Given the description of an element on the screen output the (x, y) to click on. 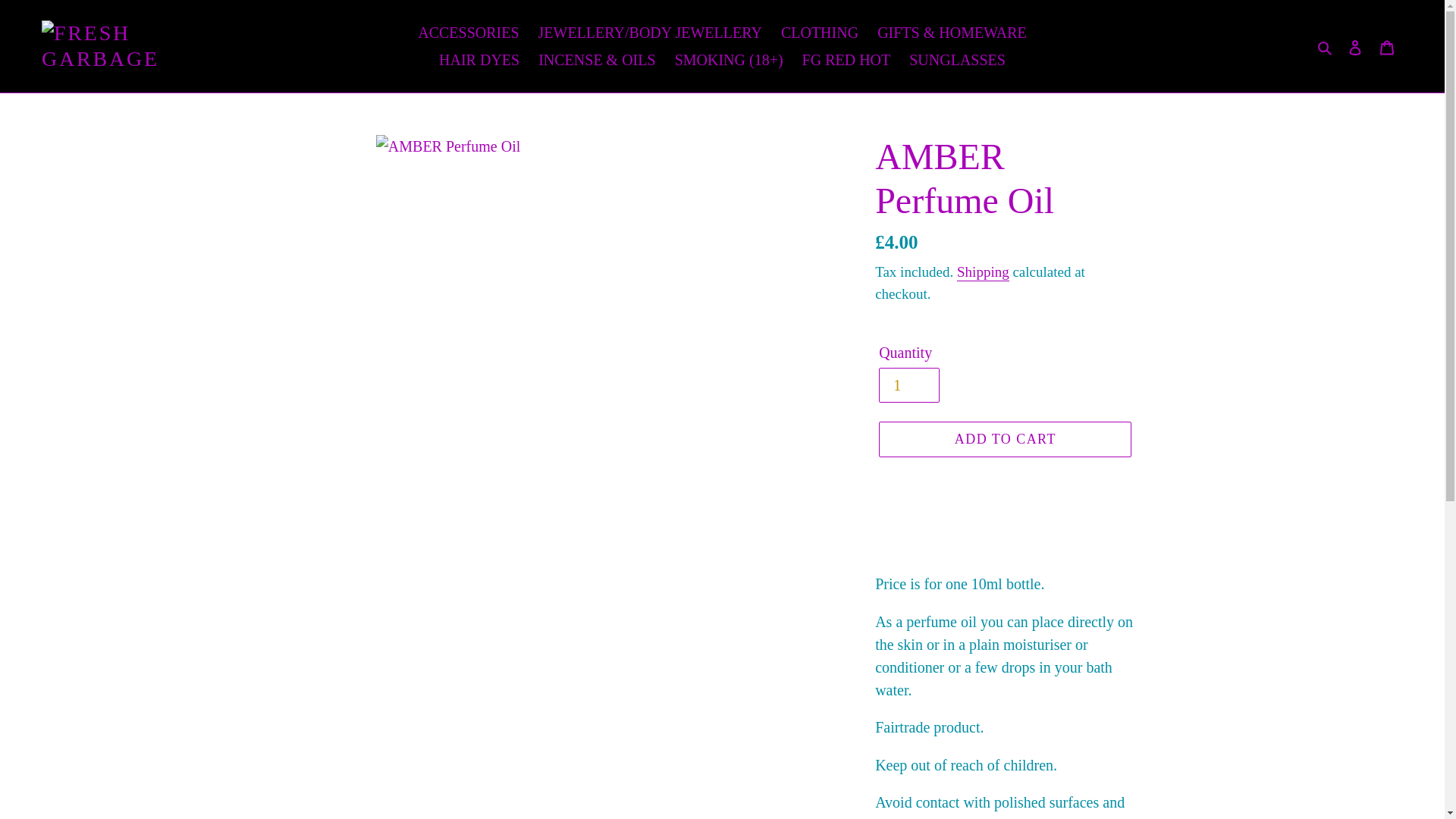
Shipping (982, 272)
CLOTHING (819, 31)
ADD TO CART (1005, 439)
SUNGLASSES (957, 59)
ACCESSORIES (467, 31)
HAIR DYES (478, 59)
FG RED HOT (846, 59)
Search (1326, 46)
1 (909, 384)
